Given the description of an element on the screen output the (x, y) to click on. 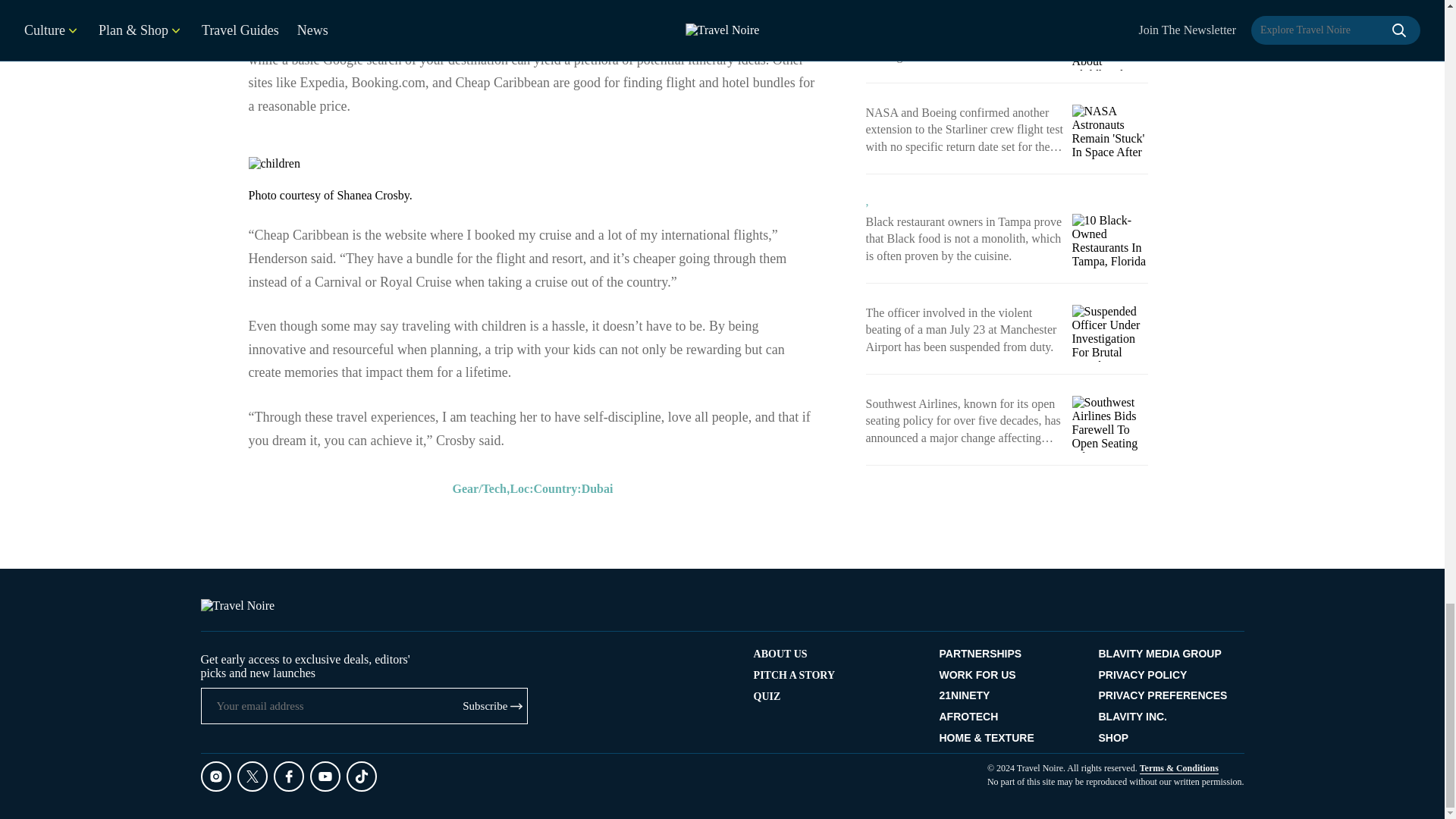
Travel Noire (237, 605)
Loc:Country:Dubai (560, 488)
